Given the description of an element on the screen output the (x, y) to click on. 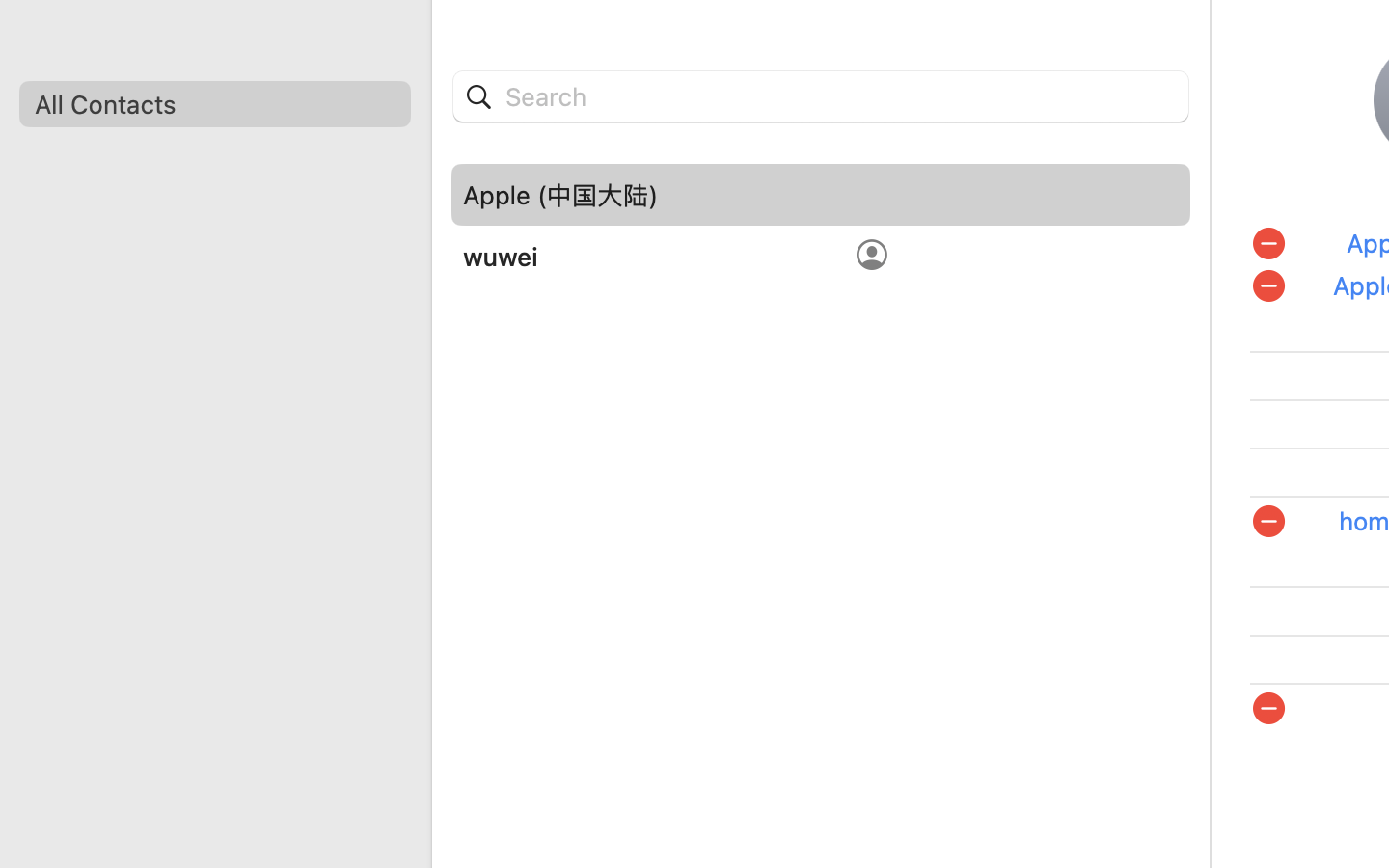
All Contacts Element type: AXStaticText (214, 103)
Apple (中国大陆) Element type: AXStaticText (560, 194)
wuwei Element type: AXStaticText (500, 256)
